Given the description of an element on the screen output the (x, y) to click on. 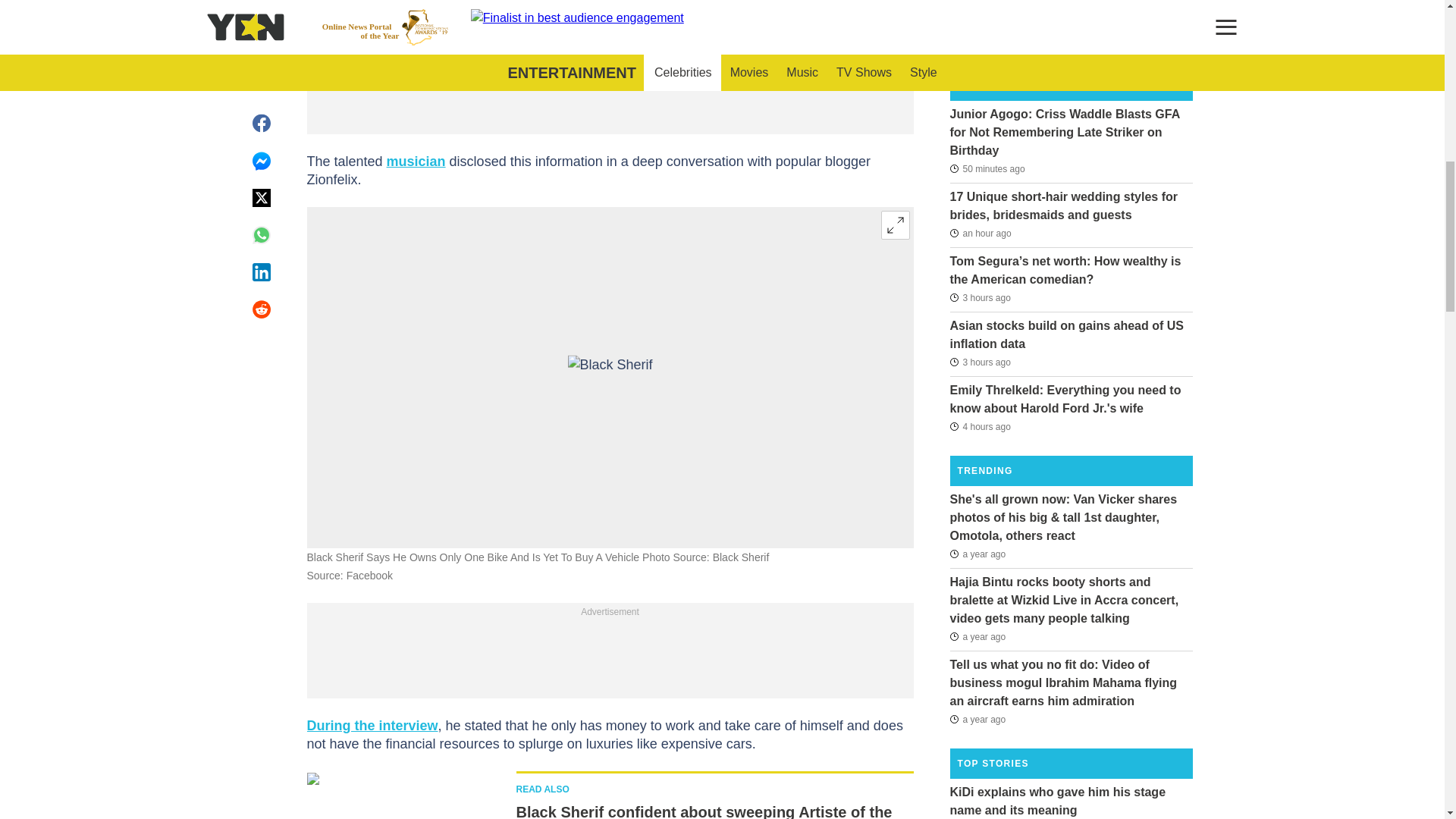
2024-08-13T04:16:17Z (979, 233)
2023-02-27T19:29:06Z (977, 553)
2024-08-13T02:44:03Z (979, 361)
2024-08-13T02:51:44Z (979, 297)
Black Sherif (609, 376)
Expand image (895, 224)
2022-11-06T18:11:27Z (977, 719)
2022-12-12T13:23:39Z (977, 637)
2024-08-13T05:02:12Z (987, 167)
2024-08-13T01:40:54Z (979, 425)
